Given the description of an element on the screen output the (x, y) to click on. 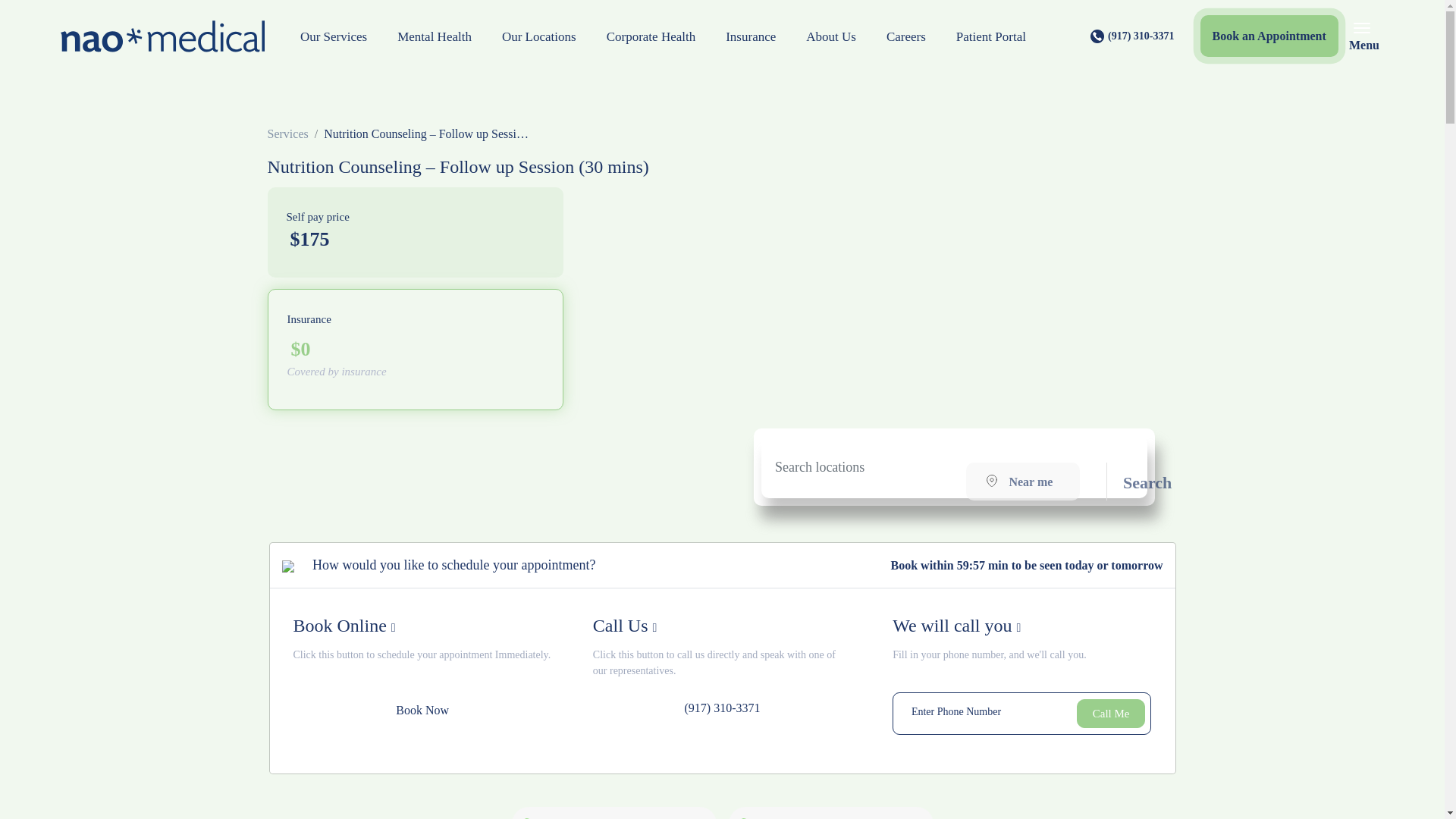
Our Services (333, 36)
Corporate Health (650, 36)
Our Locations (539, 36)
Call Me (1111, 713)
Insurance (750, 36)
Mental Health (434, 36)
About Us (830, 36)
